Given the description of an element on the screen output the (x, y) to click on. 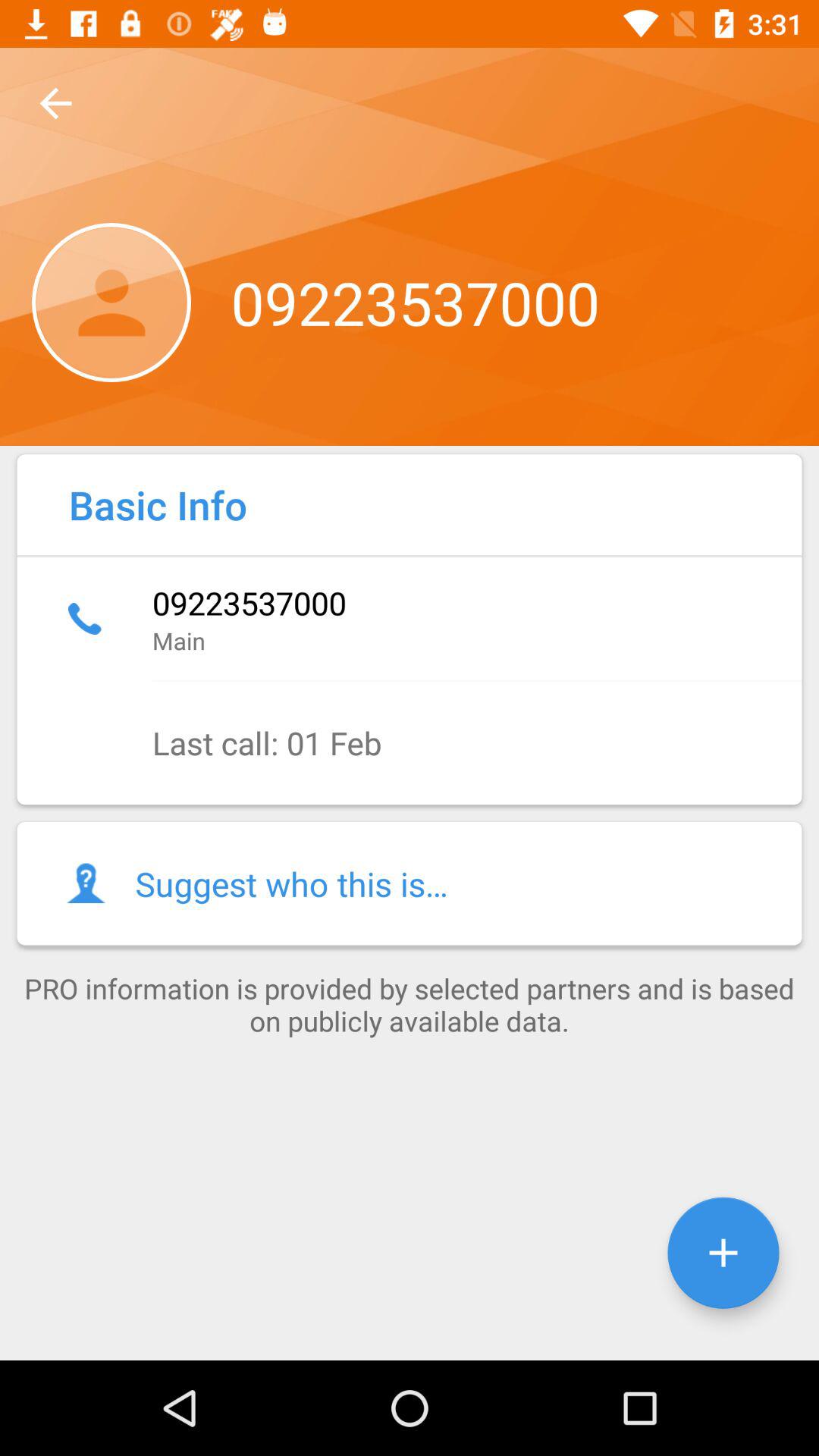
jump to the suggest who this (409, 883)
